Given the description of an element on the screen output the (x, y) to click on. 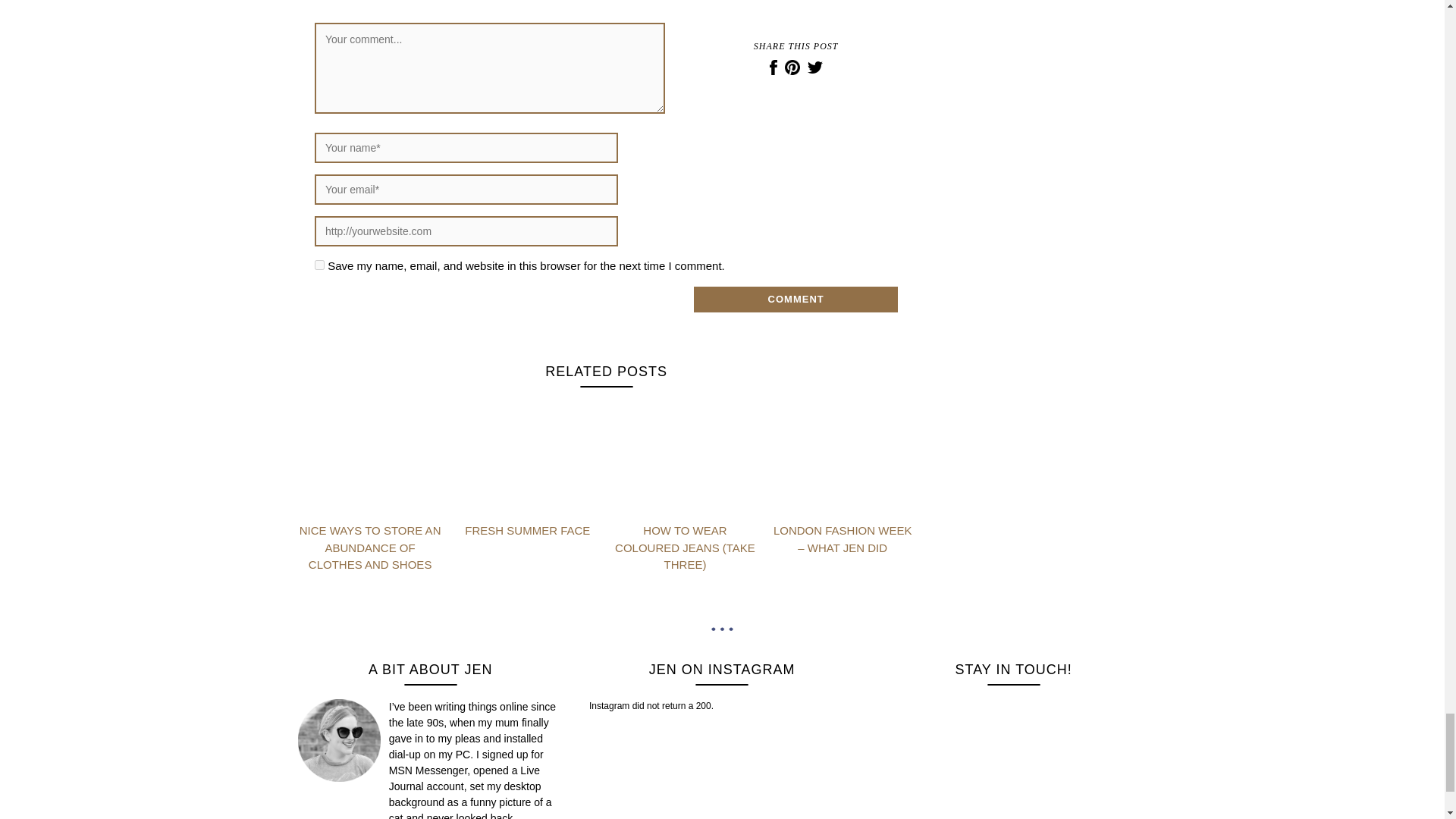
yes (319, 265)
Comment (796, 299)
Fresh Summer Face (526, 530)
Nice Ways to Store an Abundance of Clothes and Shoes (370, 547)
